Given the description of an element on the screen output the (x, y) to click on. 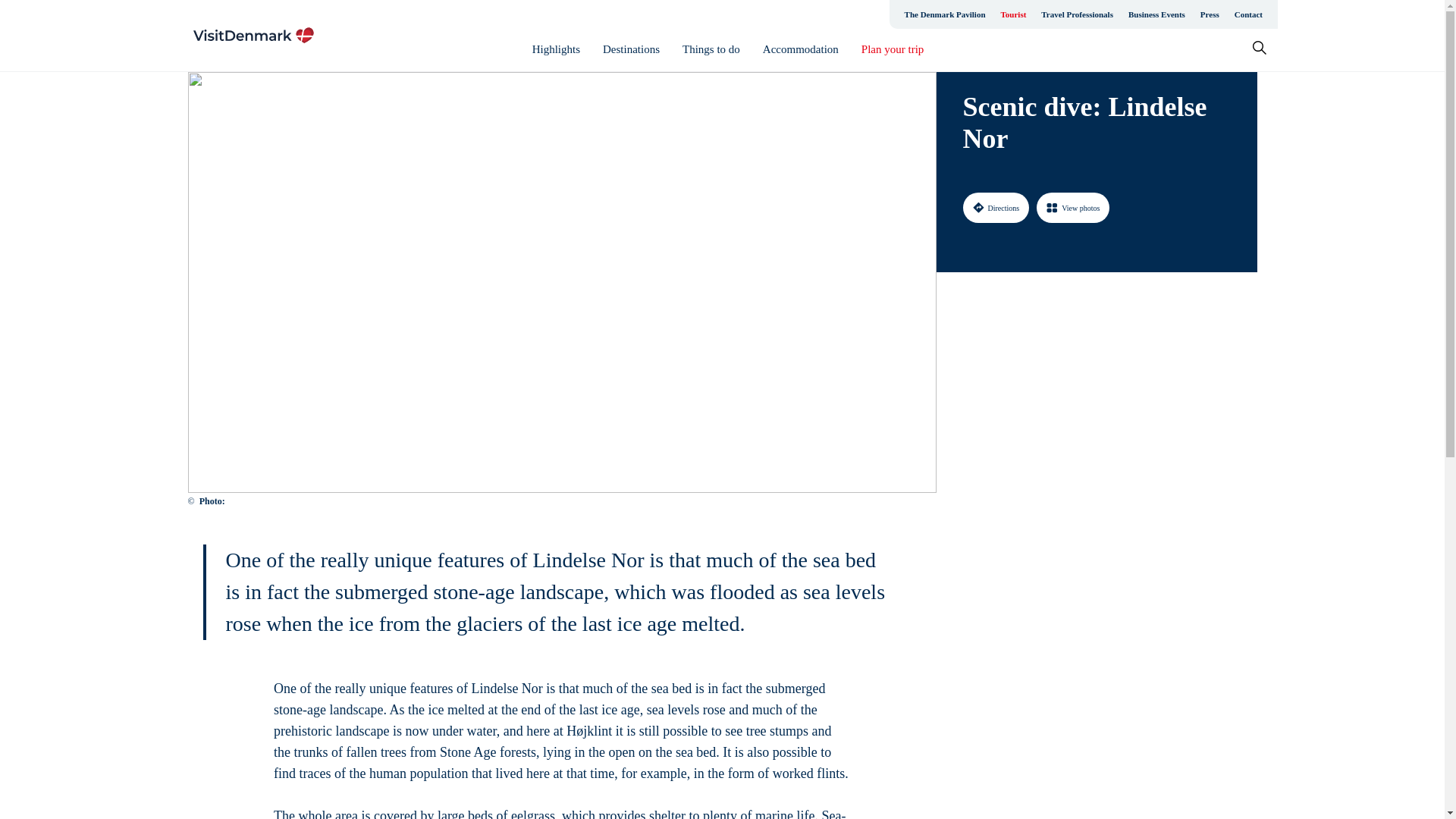
View photos (1072, 207)
Destinations (630, 49)
Contact (1248, 14)
Plan your trip (892, 49)
Highlights (555, 49)
Go to homepage (253, 35)
Travel Professionals (1077, 14)
The Denmark Pavilion (944, 14)
Directions (995, 207)
Things to do (710, 49)
Business Events (1156, 14)
Accommodation (800, 49)
Tourist (1012, 14)
Press (1209, 14)
